Given the description of an element on the screen output the (x, y) to click on. 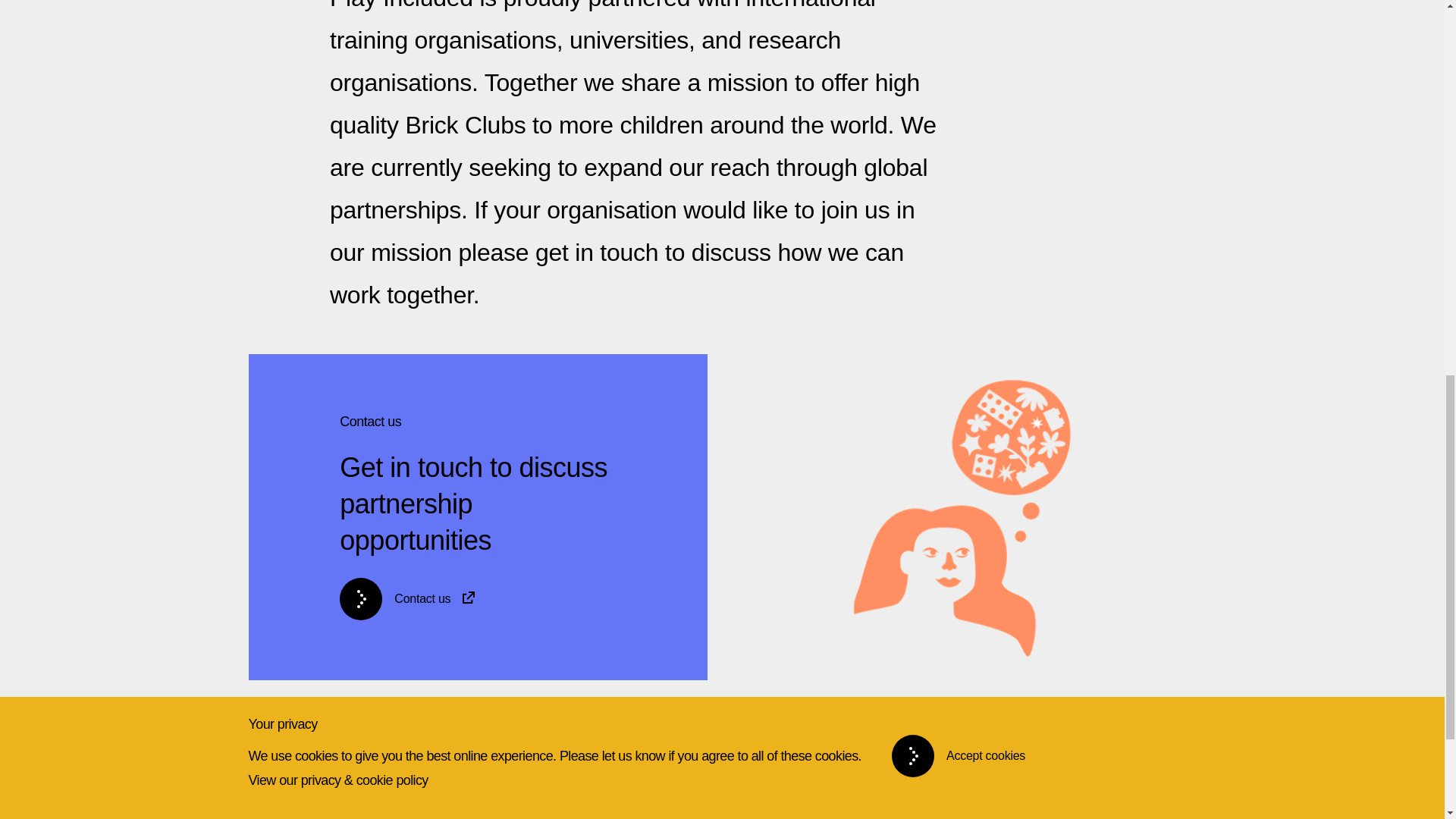
Contact us (476, 598)
Contact us (305, 780)
